Given the description of an element on the screen output the (x, y) to click on. 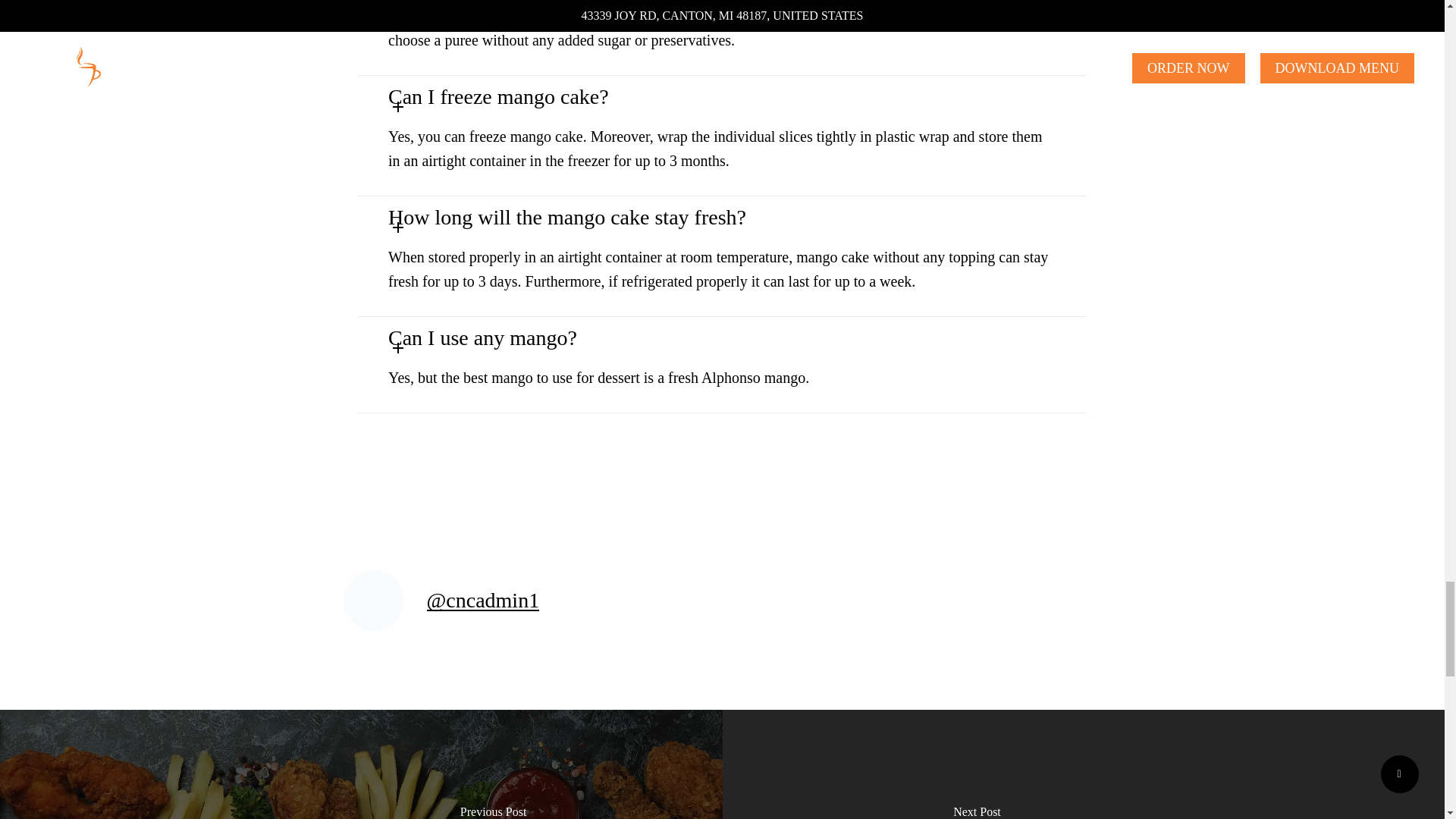
How long will the mango cake stay fresh? (593, 216)
Can I substitute canned mango puree with fresh mangoes? (662, 5)
Can I use any mango? (509, 337)
Can I freeze mango cake? (525, 96)
